Given the description of an element on the screen output the (x, y) to click on. 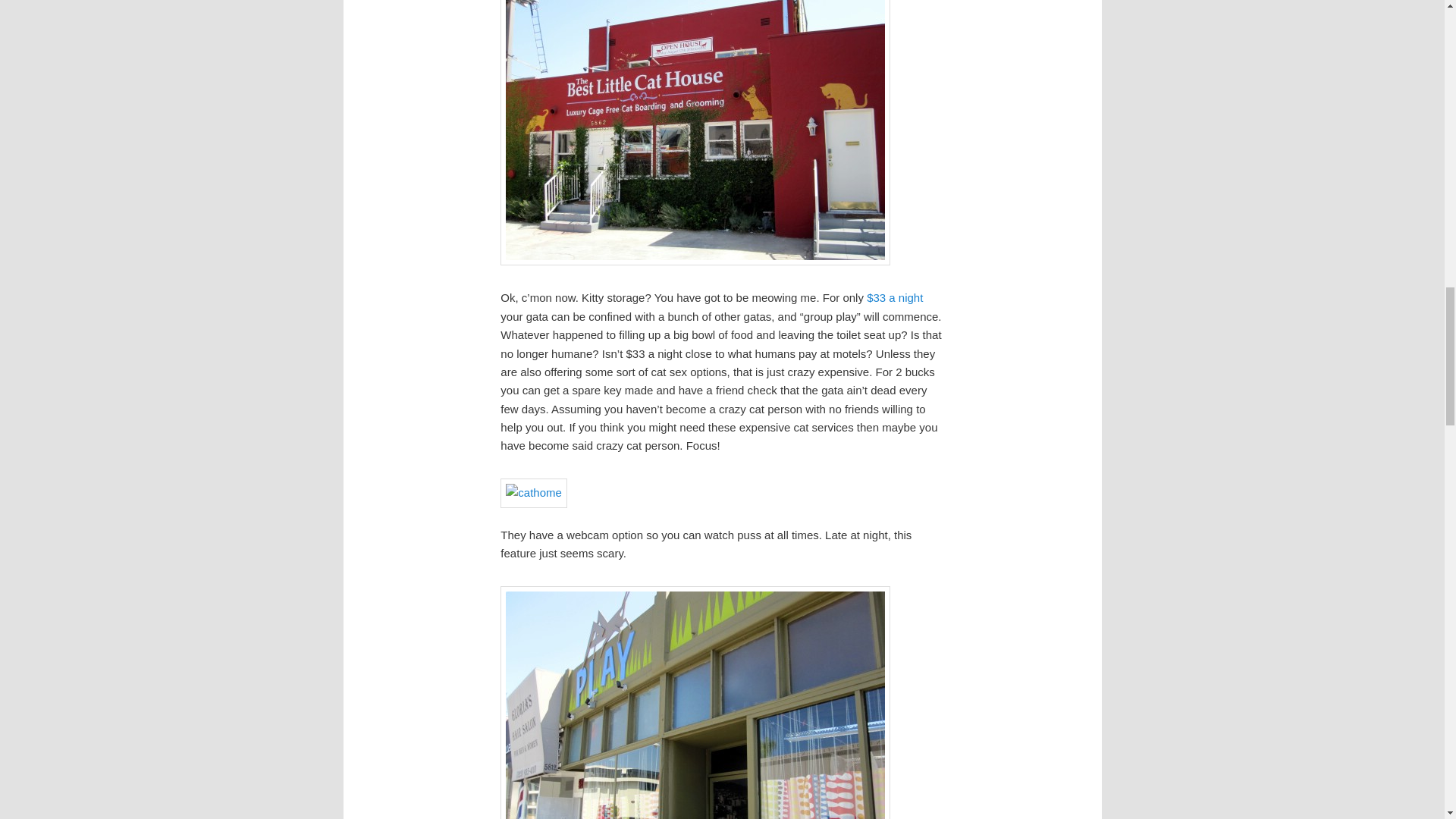
storage3 (694, 132)
cathome (533, 492)
storage4 (694, 702)
